Given the description of an element on the screen output the (x, y) to click on. 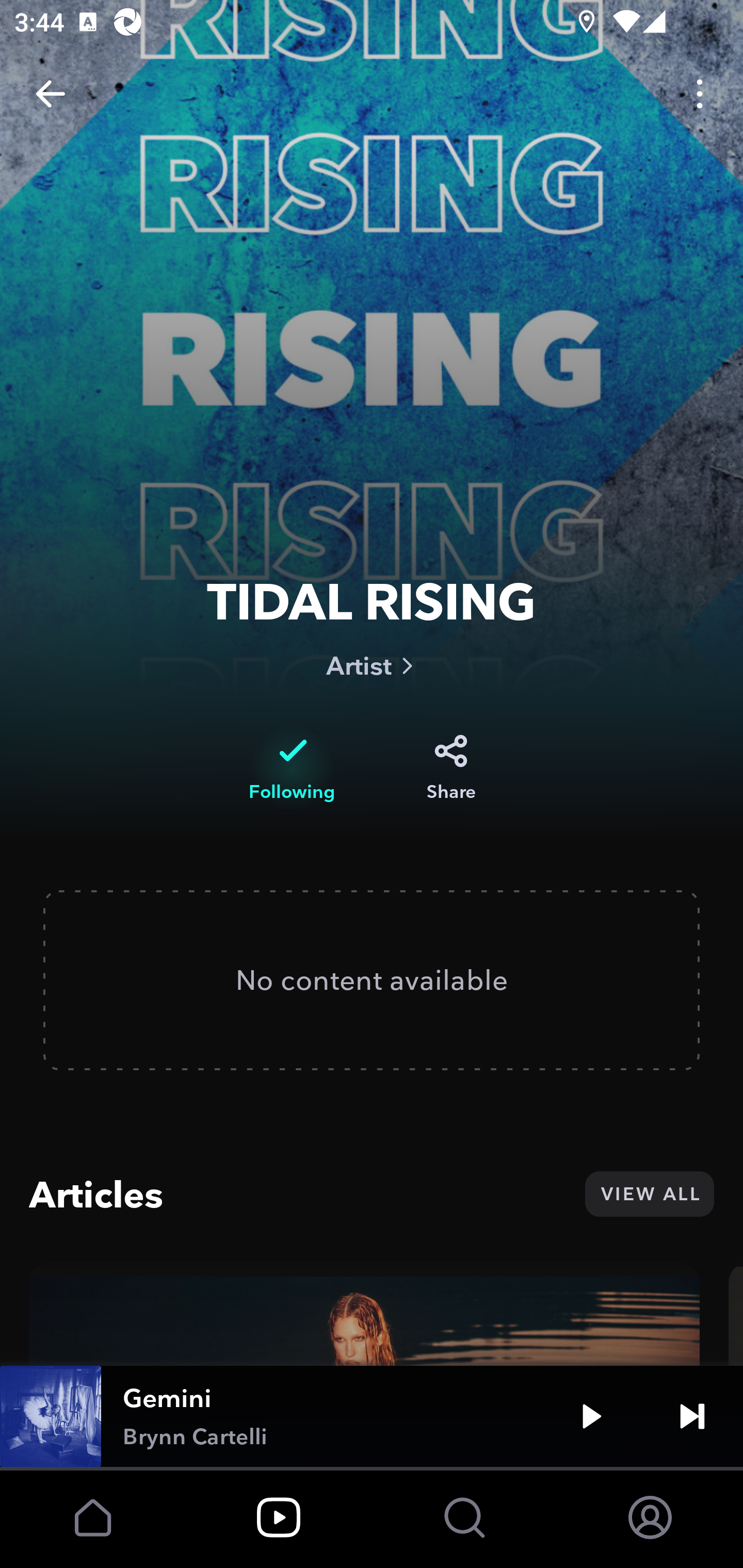
Options (699, 93)
Artist (371, 665)
Following (291, 767)
Share (450, 767)
VIEW ALL (649, 1193)
Gemini Brynn Cartelli Play (371, 1416)
Play (590, 1416)
